Given the description of an element on the screen output the (x, y) to click on. 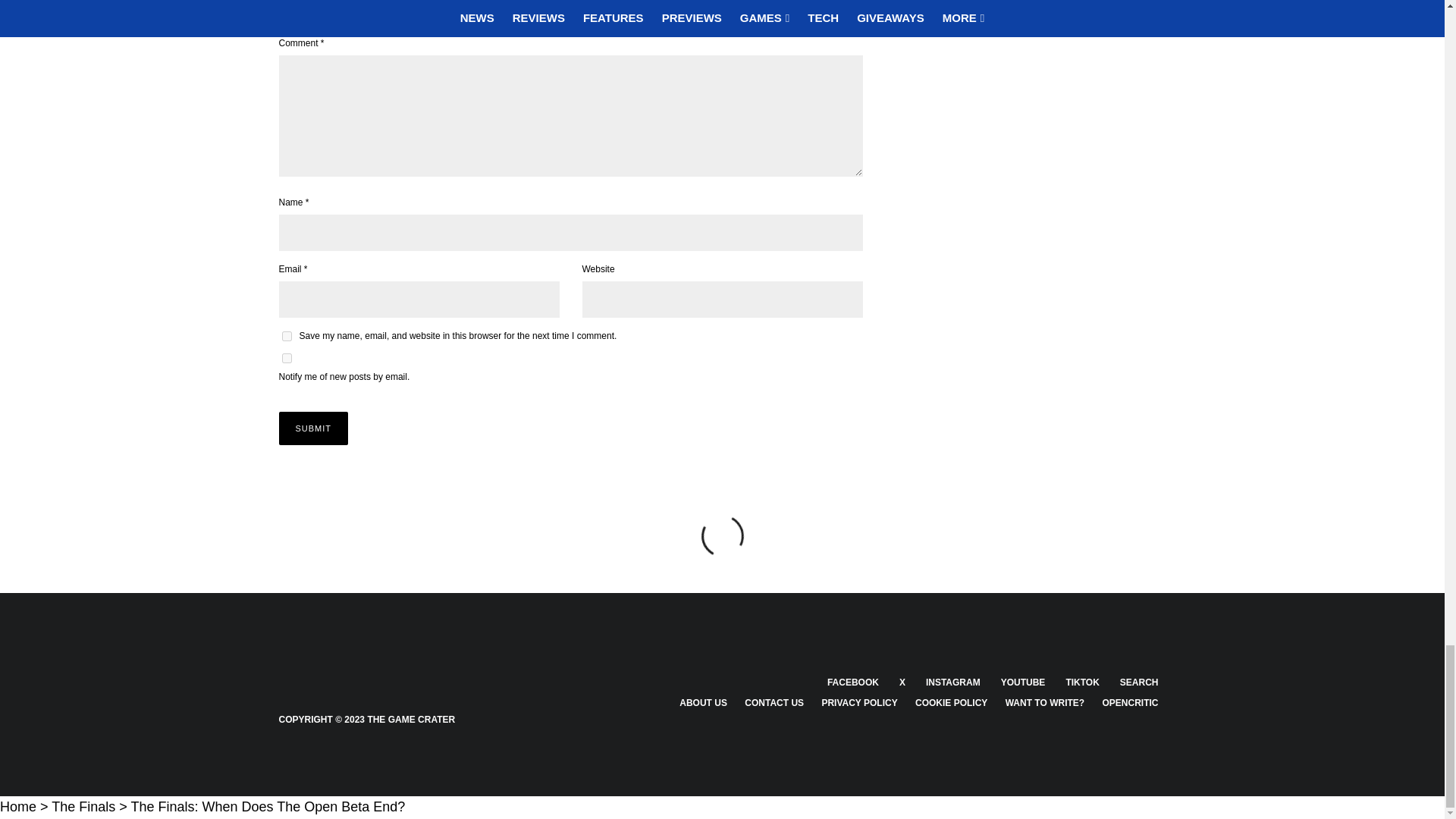
Submit (314, 428)
yes (287, 336)
subscribe (287, 357)
